Given the description of an element on the screen output the (x, y) to click on. 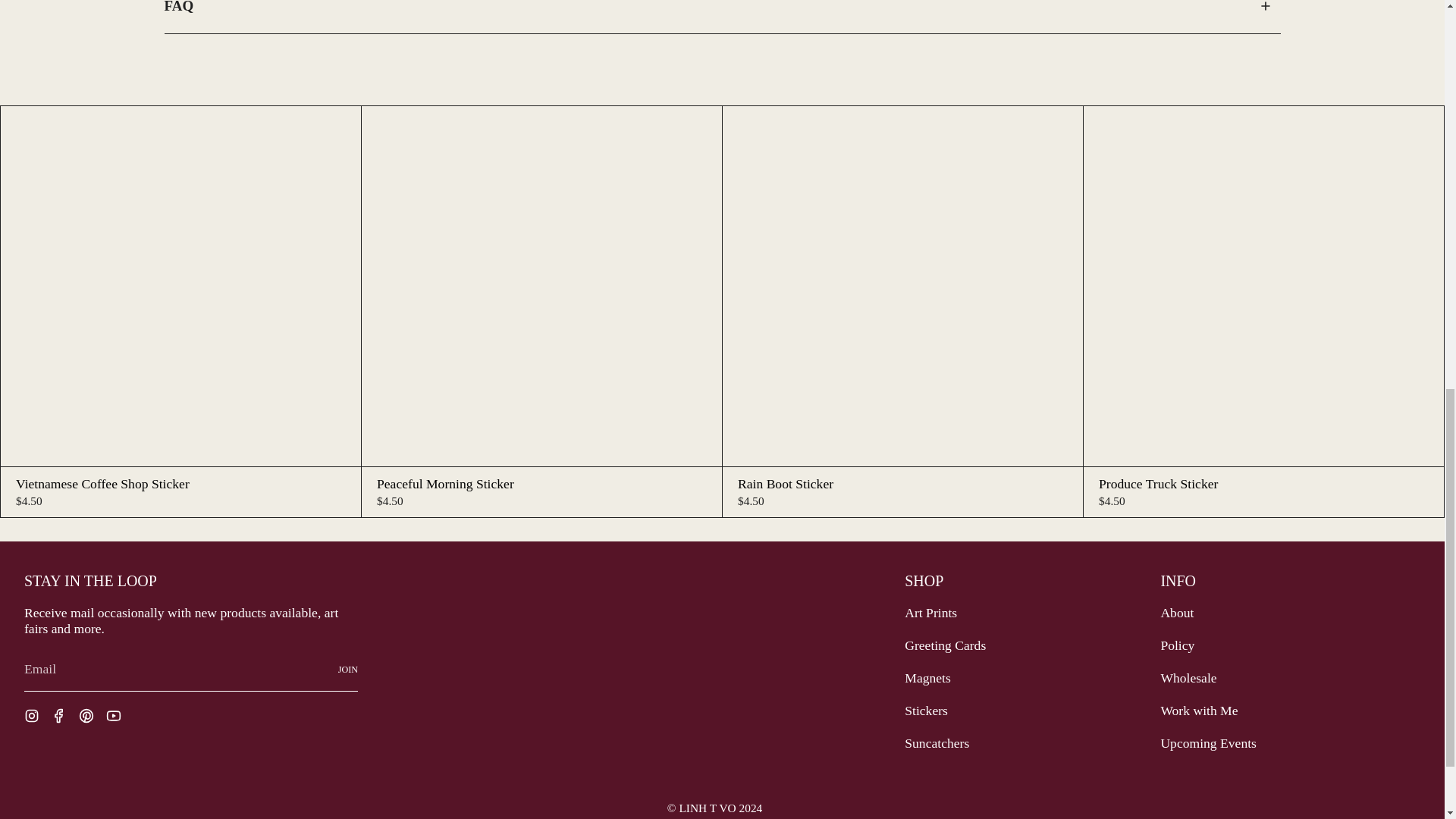
LINH T VO on Instagram (31, 713)
LINH T VO on Pinterest (86, 713)
LINH T VO on YouTube (113, 713)
LINH T VO on Facebook (58, 713)
